Given the description of an element on the screen output the (x, y) to click on. 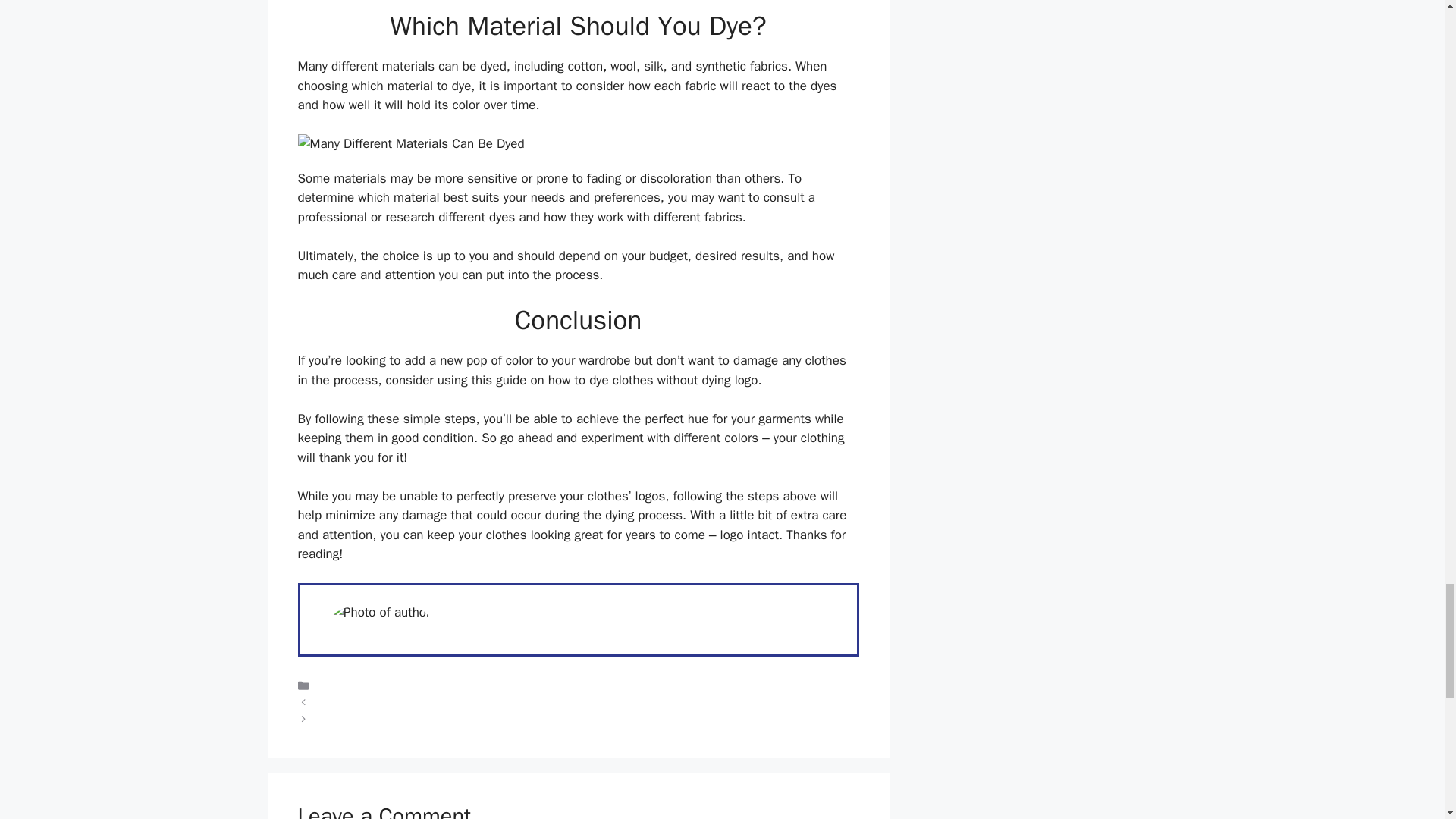
How to Protect Fridge Next to Stove (399, 718)
Clothes (333, 685)
Jennifer Branett (490, 609)
How to Get Lip Gloss Out of Clothes (401, 703)
